Given the description of an element on the screen output the (x, y) to click on. 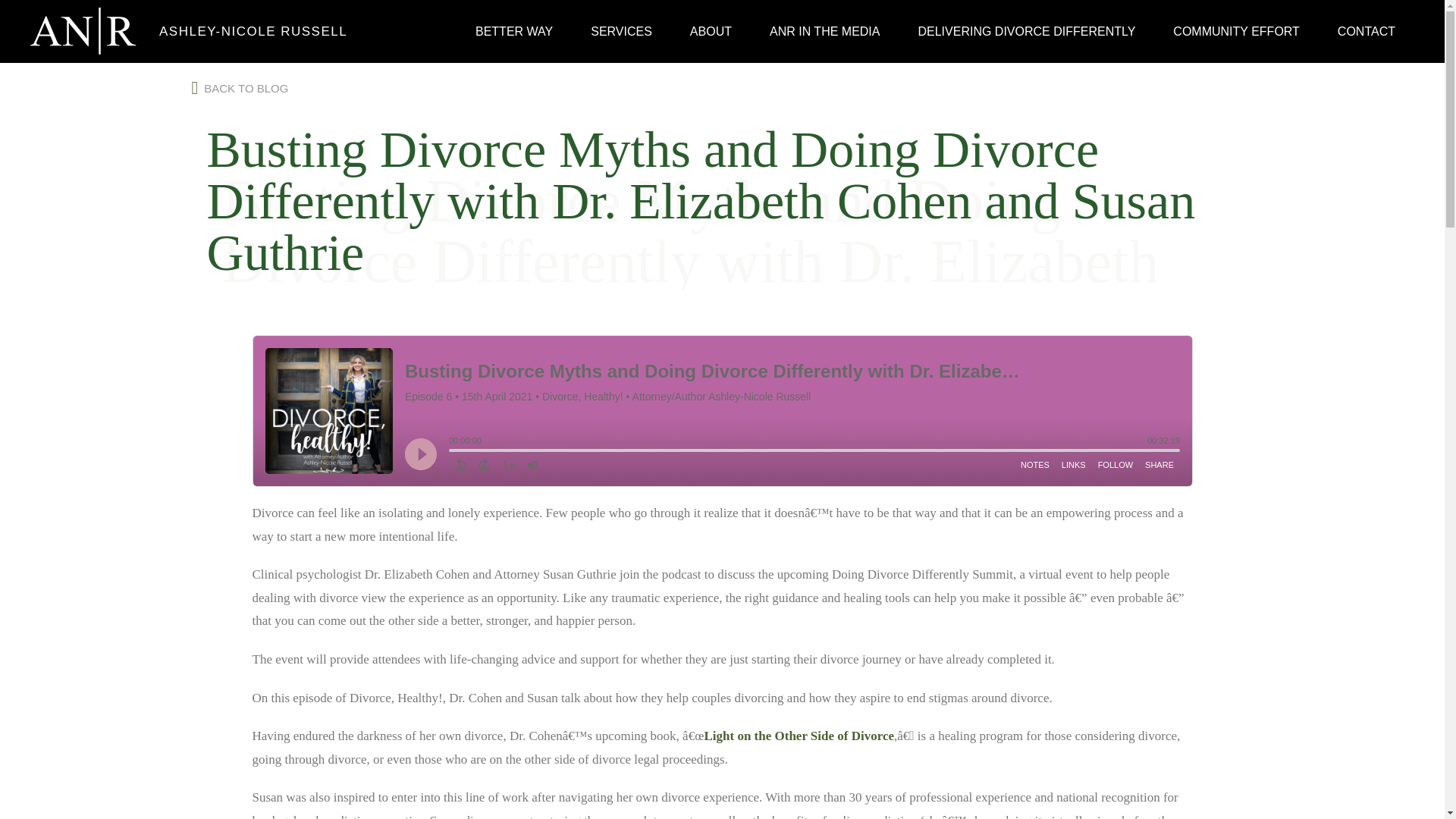
Light on the Other Side of Divorce (798, 735)
DELIVERING DIVORCE DIFFERENTLY (1026, 30)
ANR IN THE MEDIA (825, 30)
BETTER WAY (514, 30)
BACK TO BLOG (239, 86)
ASHLEY-NICOLE RUSSELL (245, 31)
ABOUT (711, 30)
The Law Offices of Ashley-Nicole Russell, P.A (245, 31)
CONTACT (1366, 30)
SERVICES (621, 30)
The Law Offices of Ashley-Nicole Russell, P.A (83, 31)
COMMUNITY EFFORT (1236, 30)
